Given the description of an element on the screen output the (x, y) to click on. 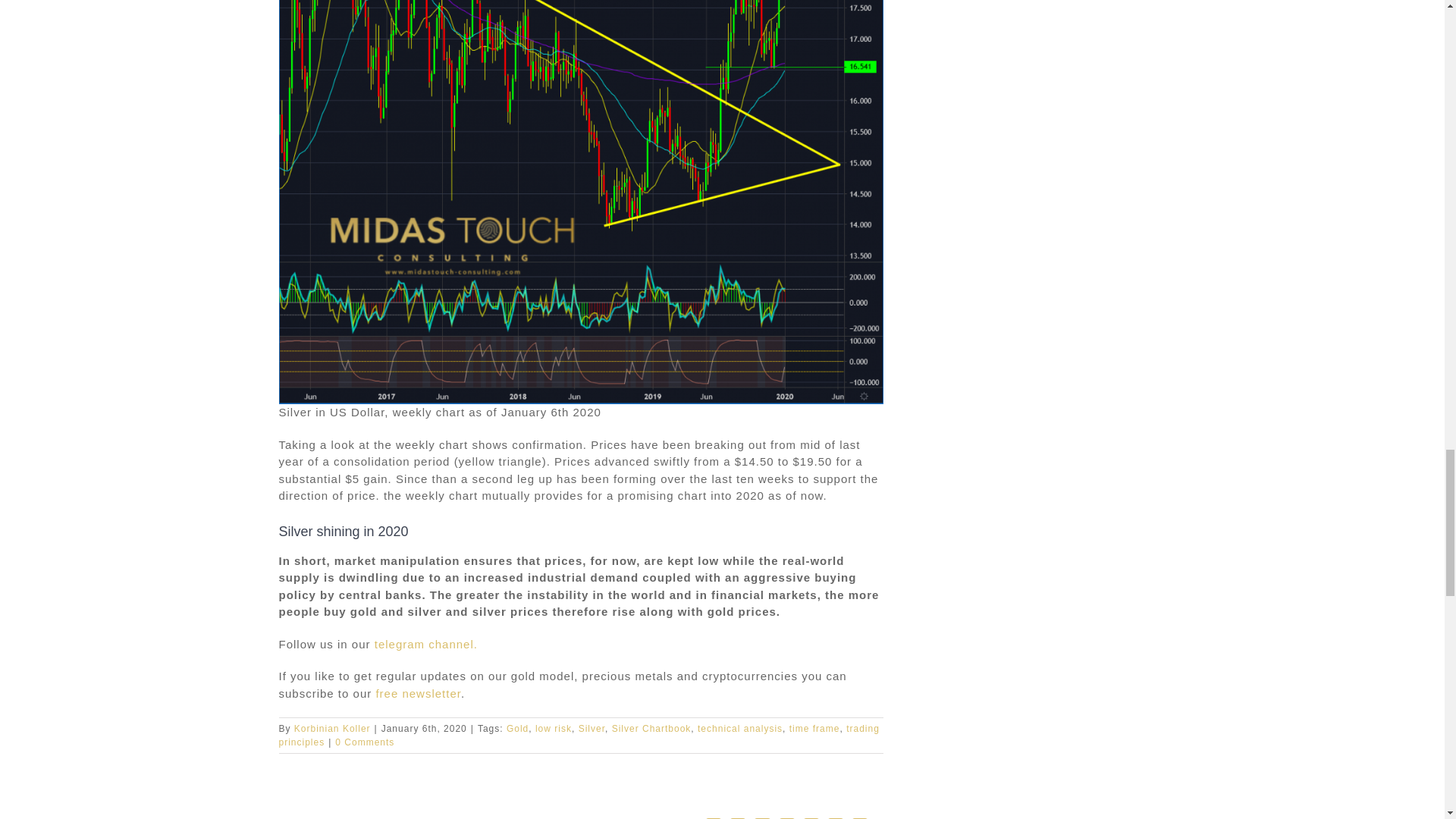
Posts by Korbinian Koller (332, 728)
